Given the description of an element on the screen output the (x, y) to click on. 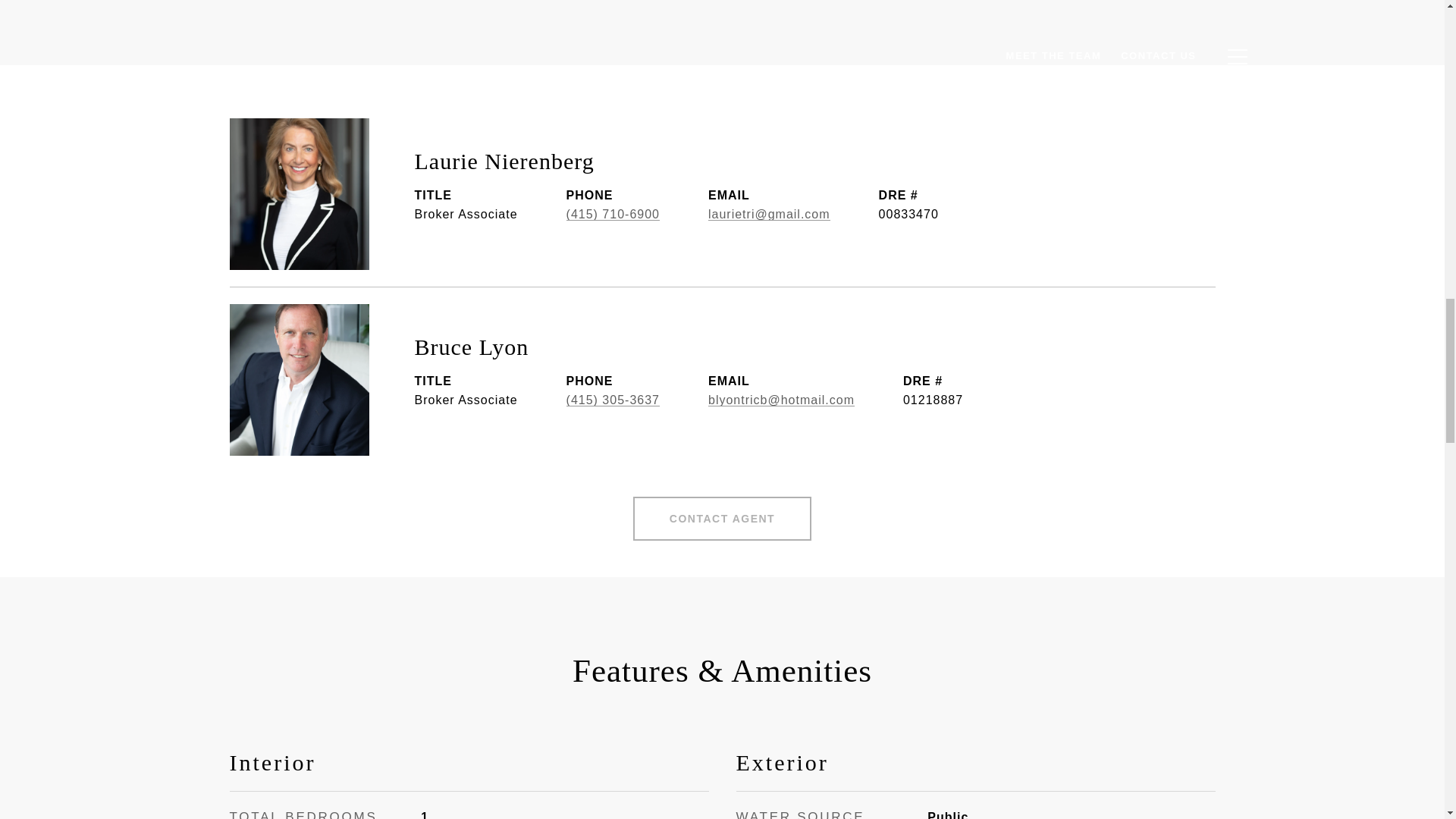
CONTACT AGENT (721, 518)
